Given the description of an element on the screen output the (x, y) to click on. 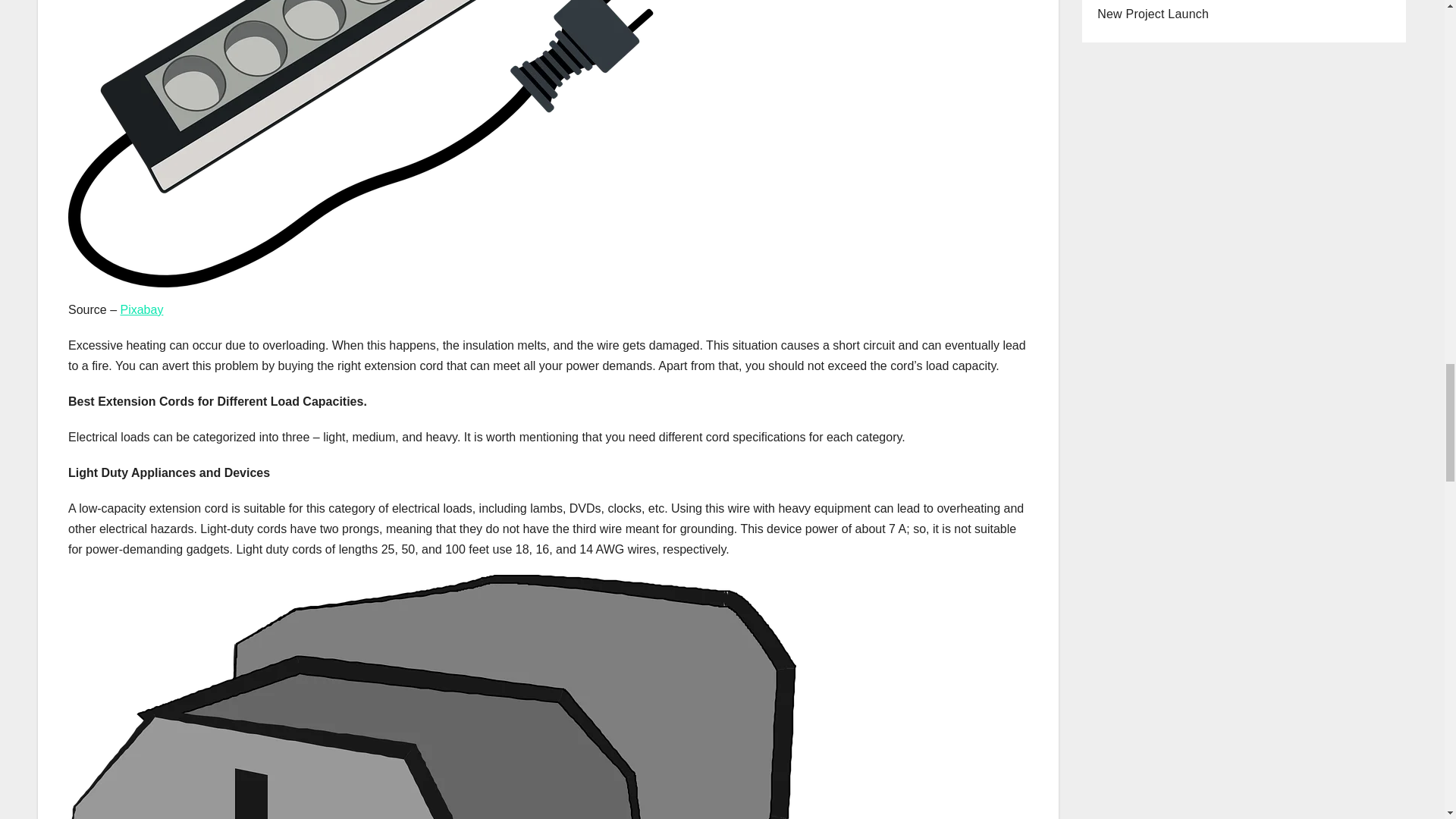
Pixabay (141, 309)
